Given the description of an element on the screen output the (x, y) to click on. 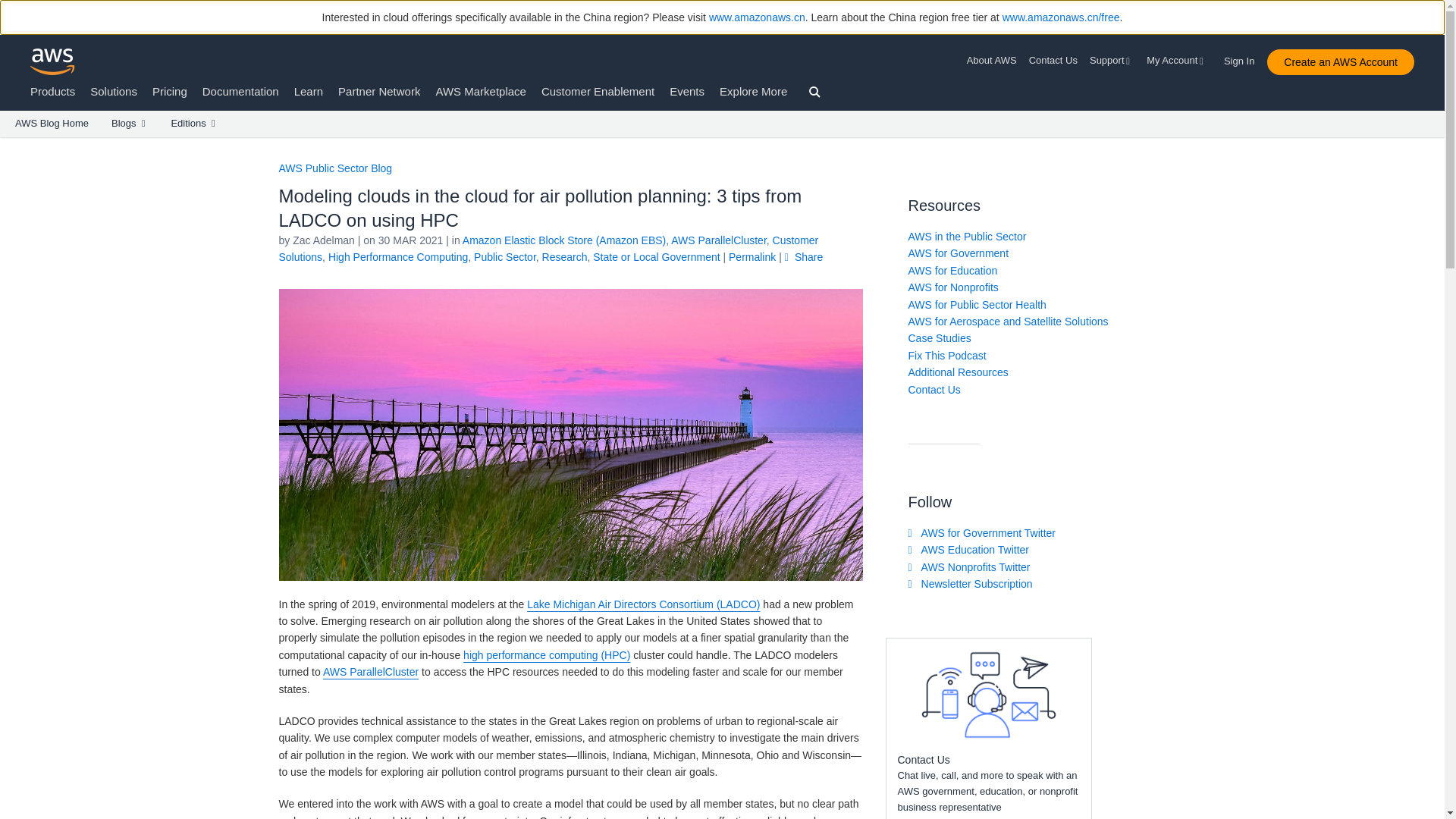
Click here to return to Amazon Web Services homepage (52, 61)
Sign In (1243, 58)
www.amazonaws.cn (757, 17)
Documentation (240, 91)
About AWS (994, 60)
My Account  (1177, 60)
Products (52, 91)
Learn (308, 91)
View all posts in Public Sector (504, 256)
Solutions (113, 91)
Create an AWS Account (1339, 62)
Skip to Main Content (7, 143)
View all posts in Customer Solutions (548, 248)
Events (686, 91)
Customer Enablement (597, 91)
